Given the description of an element on the screen output the (x, y) to click on. 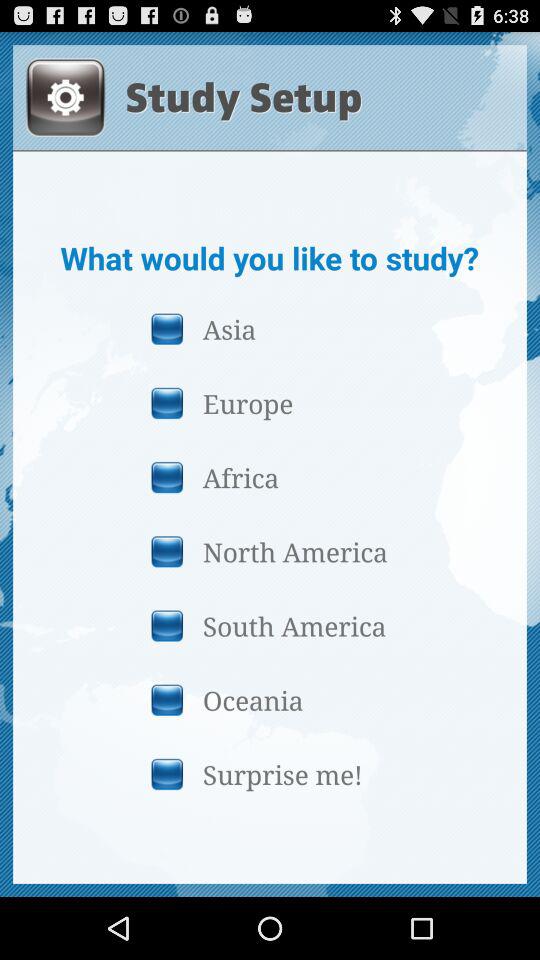
choose the button above north america (269, 477)
